Given the description of an element on the screen output the (x, y) to click on. 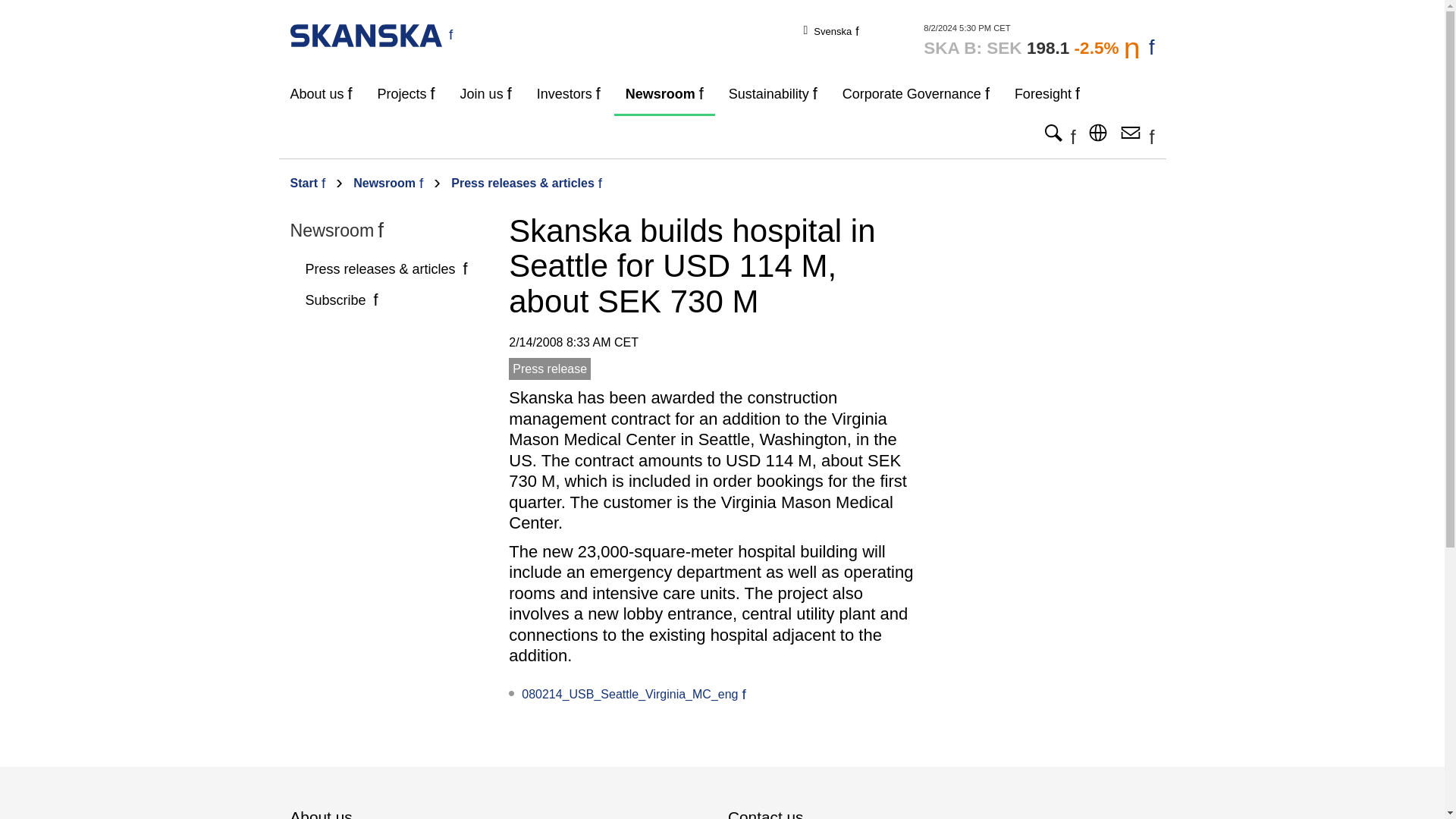
Compare (1038, 40)
Join us (485, 93)
Skanska (370, 33)
Svenska (836, 30)
Projects (406, 93)
About us (321, 93)
